Given the description of an element on the screen output the (x, y) to click on. 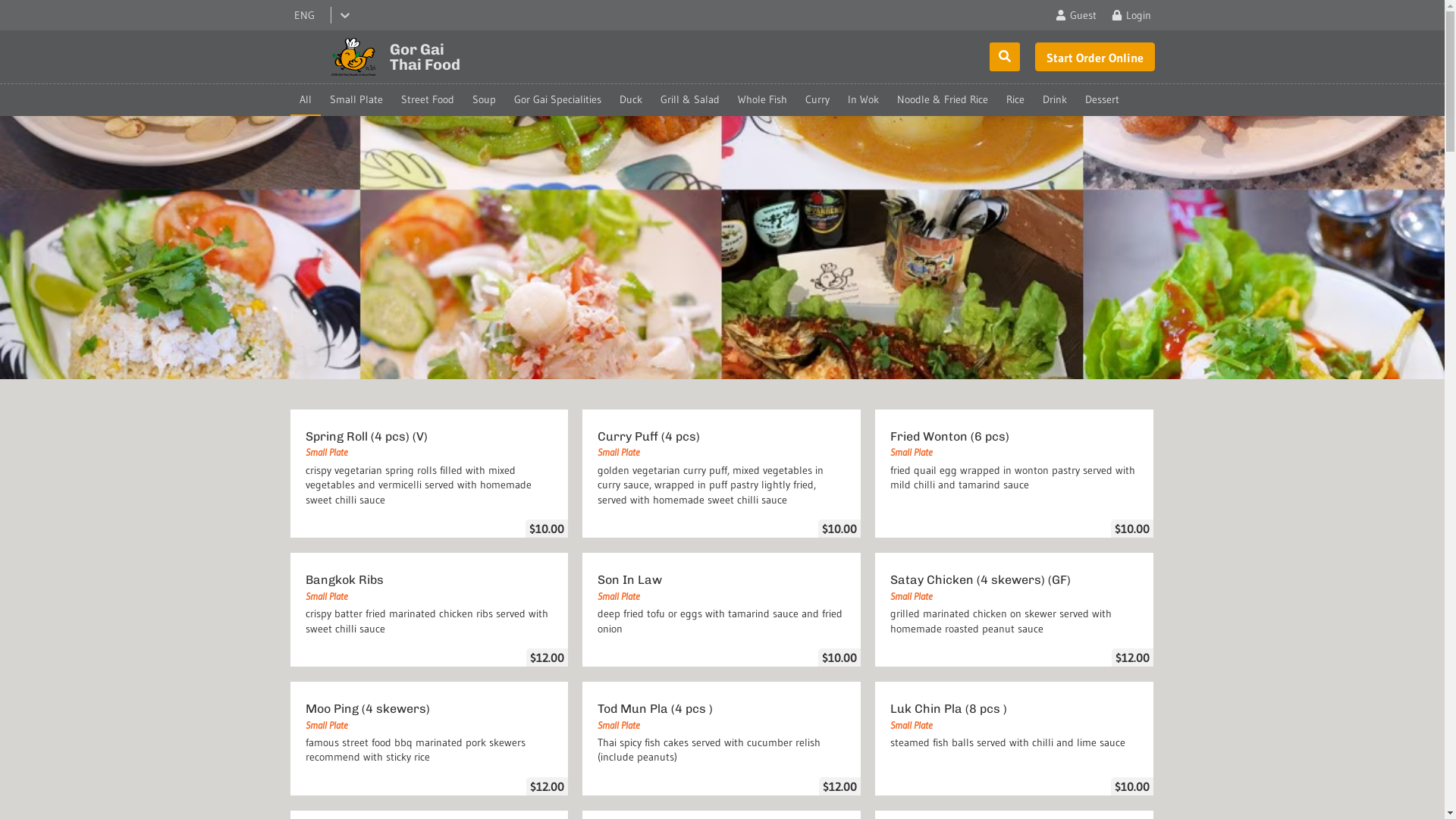
Order Online Element type: text (1094, 56)
